Given the description of an element on the screen output the (x, y) to click on. 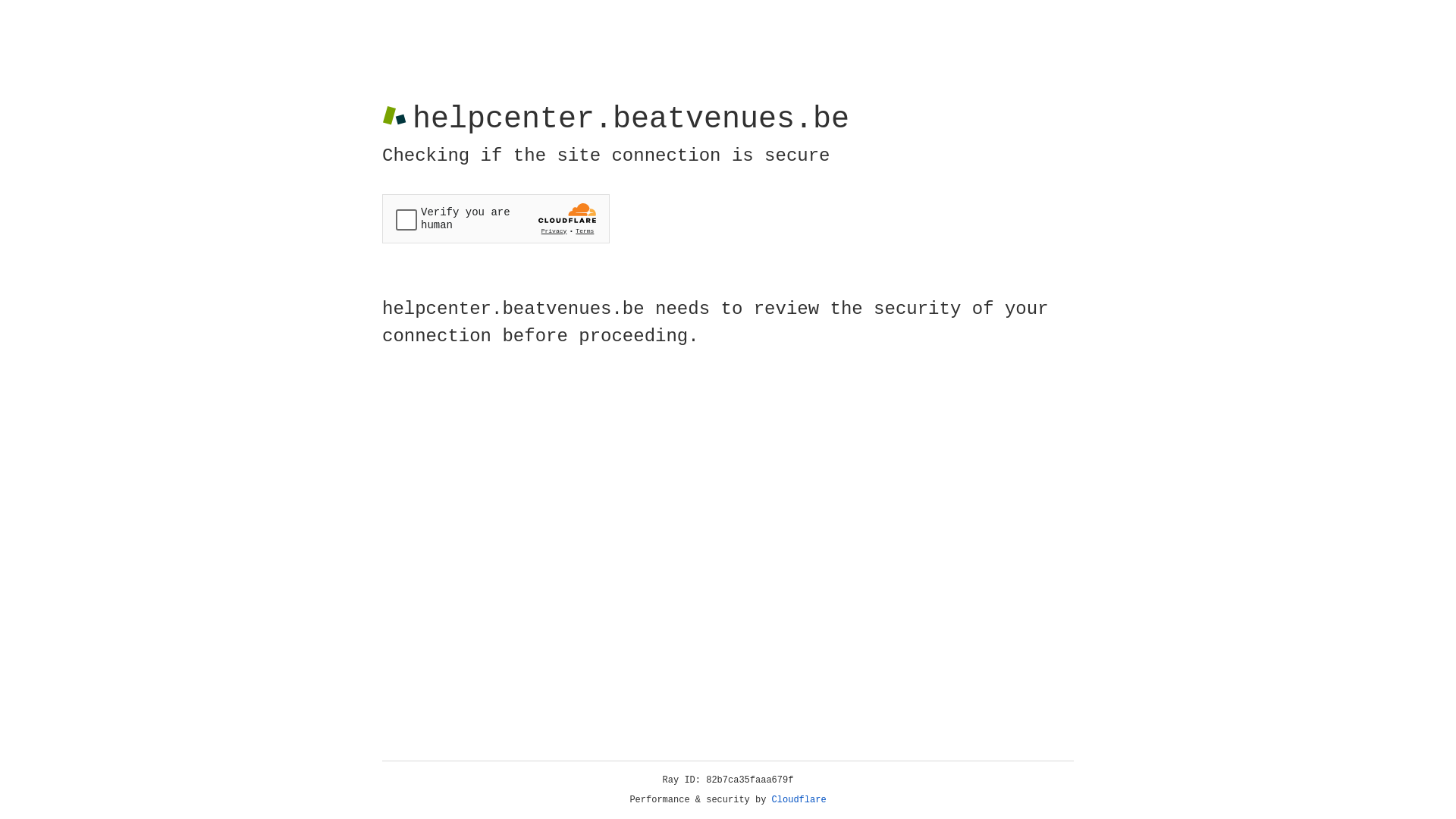
Cloudflare Element type: text (798, 799)
Widget containing a Cloudflare security challenge Element type: hover (495, 218)
